Given the description of an element on the screen output the (x, y) to click on. 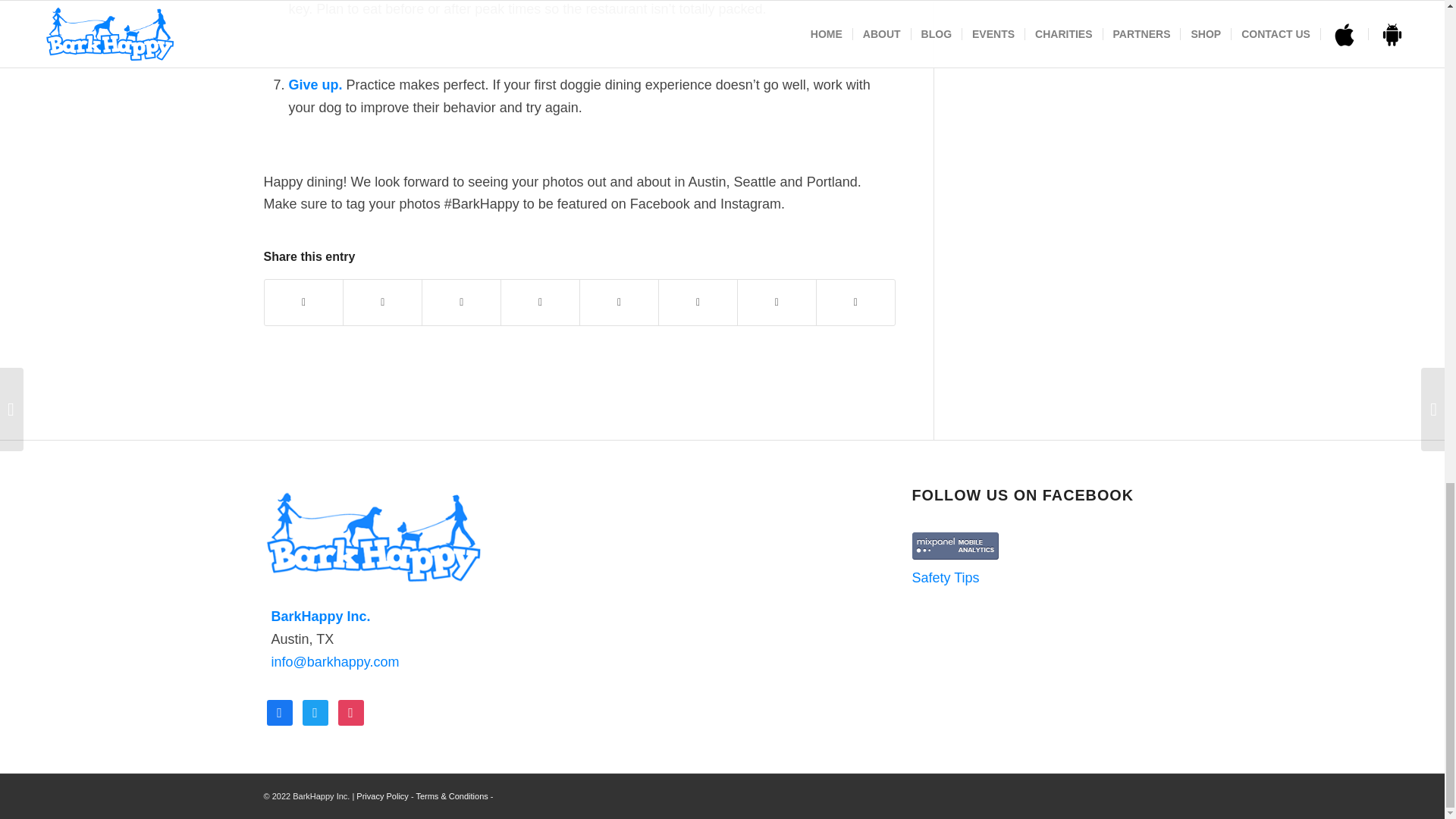
facebook (279, 711)
Friend me on Facebook (279, 711)
instagram (350, 711)
twitter (315, 711)
Safety Tips (945, 577)
Privacy Policy (381, 795)
